Given the description of an element on the screen output the (x, y) to click on. 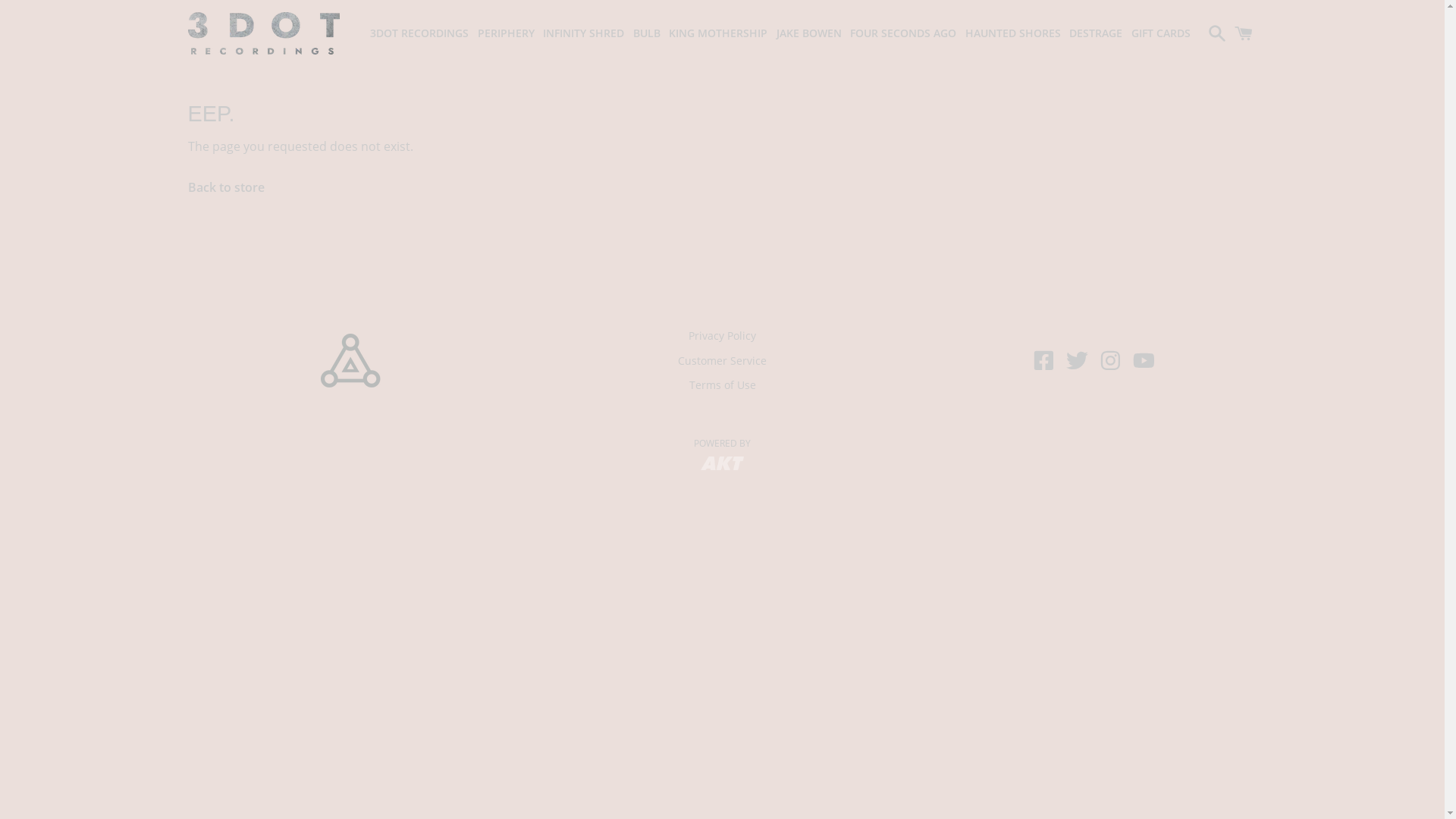
BULB Element type: text (645, 32)
KING MOTHERSHIP Element type: text (717, 32)
Privacy Policy Element type: text (721, 335)
FOUR SECONDS AGO Element type: text (903, 32)
Customer Service Element type: text (721, 360)
Terms of Use Element type: text (721, 384)
Back to store Element type: text (226, 186)
PERIPHERY Element type: text (505, 32)
INFINITY SHRED Element type: text (583, 32)
HAUNTED SHORES Element type: text (1012, 32)
DESTRAGE Element type: text (1095, 32)
JAKE BOWEN Element type: text (808, 32)
GIFT CARDS Element type: text (1160, 32)
3DOT RECORDINGS Element type: text (419, 32)
